Given the description of an element on the screen output the (x, y) to click on. 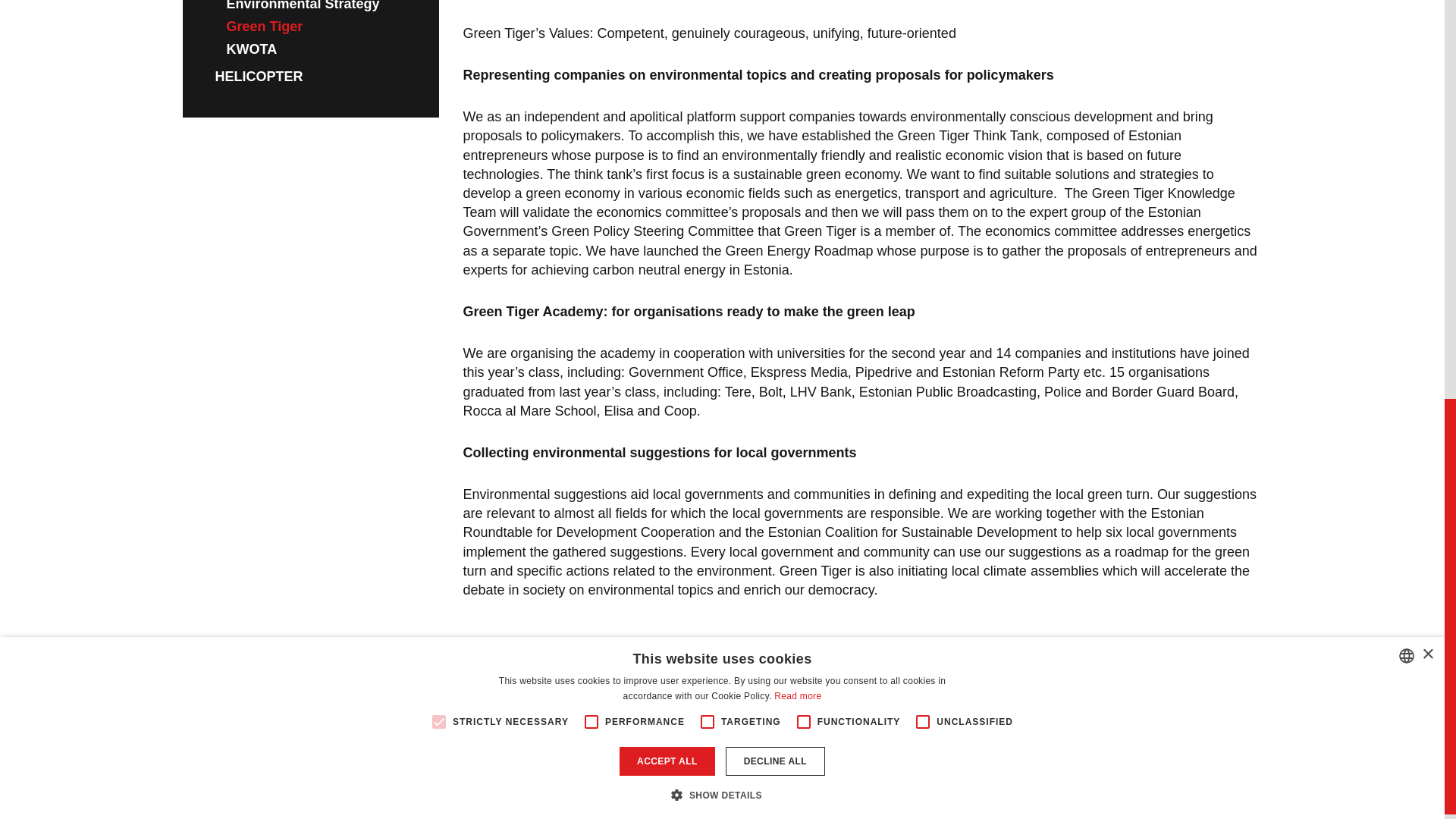
Greaton (721, 811)
